Given the description of an element on the screen output the (x, y) to click on. 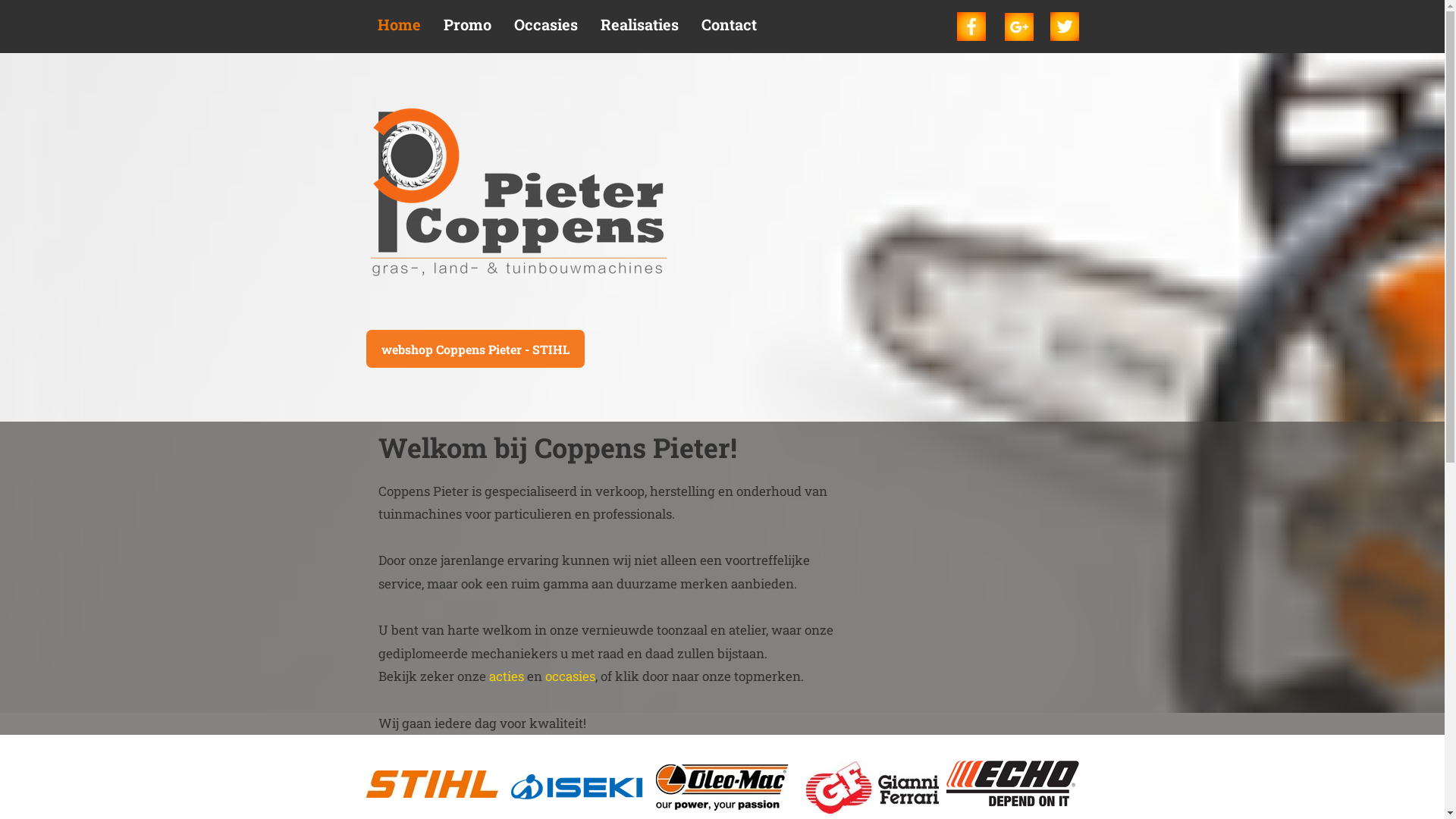
Promo Element type: text (467, 28)
STIHL LOGO Element type: hover (431, 783)
Oleo Mac Element type: hover (721, 787)
Realisaties Element type: text (638, 28)
Home Element type: text (398, 28)
acties Element type: text (505, 675)
occasies Element type: text (569, 675)
webshop Coppens Pieter - STIHL Element type: text (474, 348)
Coppens Pieter Element type: hover (517, 194)
Occasies Element type: text (545, 28)
Gianni Ferrari Element type: hover (871, 787)
Echo Element type: hover (1012, 783)
VIKING logo Element type: hover (576, 786)
Contact Element type: text (729, 28)
